Given the description of an element on the screen output the (x, y) to click on. 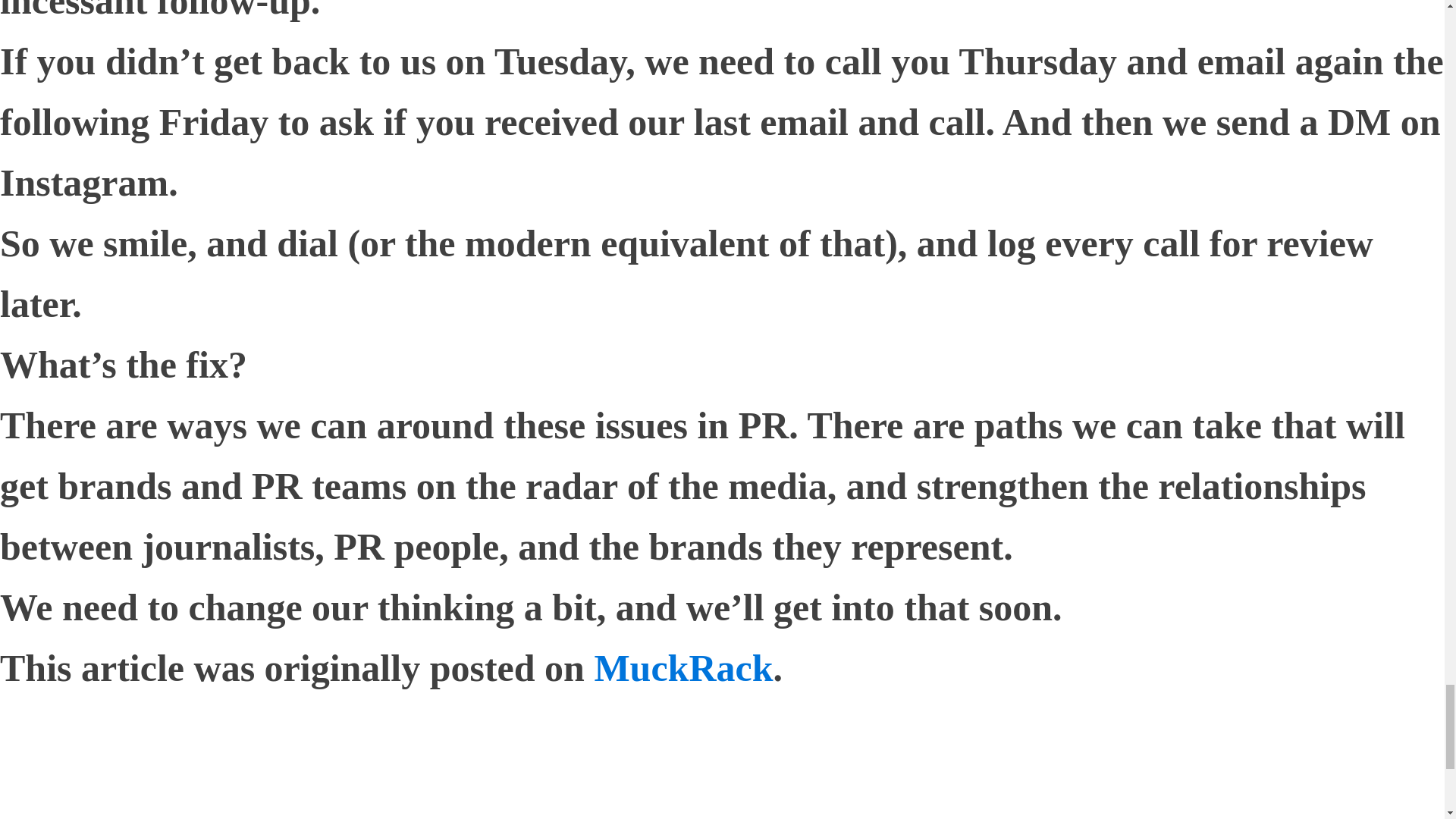
MuckRack (683, 668)
